Given the description of an element on the screen output the (x, y) to click on. 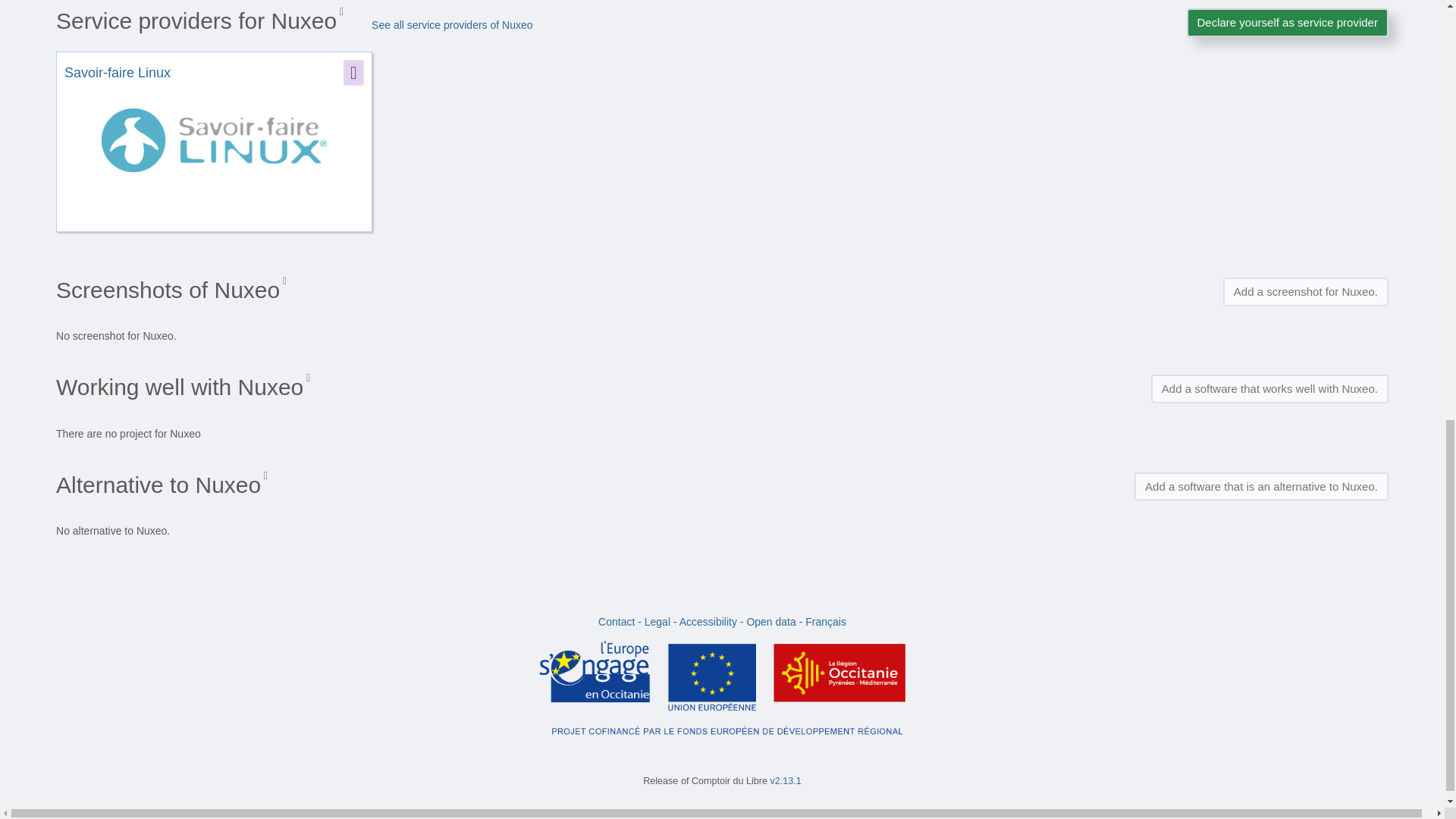
Use open data (769, 621)
See all service providers of Nuxeo (451, 24)
Savoir-faire Linux (117, 72)
Add a screenshot for Nuxeo. (1306, 291)
Add a software that works well with Nuxeo. (1270, 388)
Declare yourself as service provider (1286, 22)
